Given the description of an element on the screen output the (x, y) to click on. 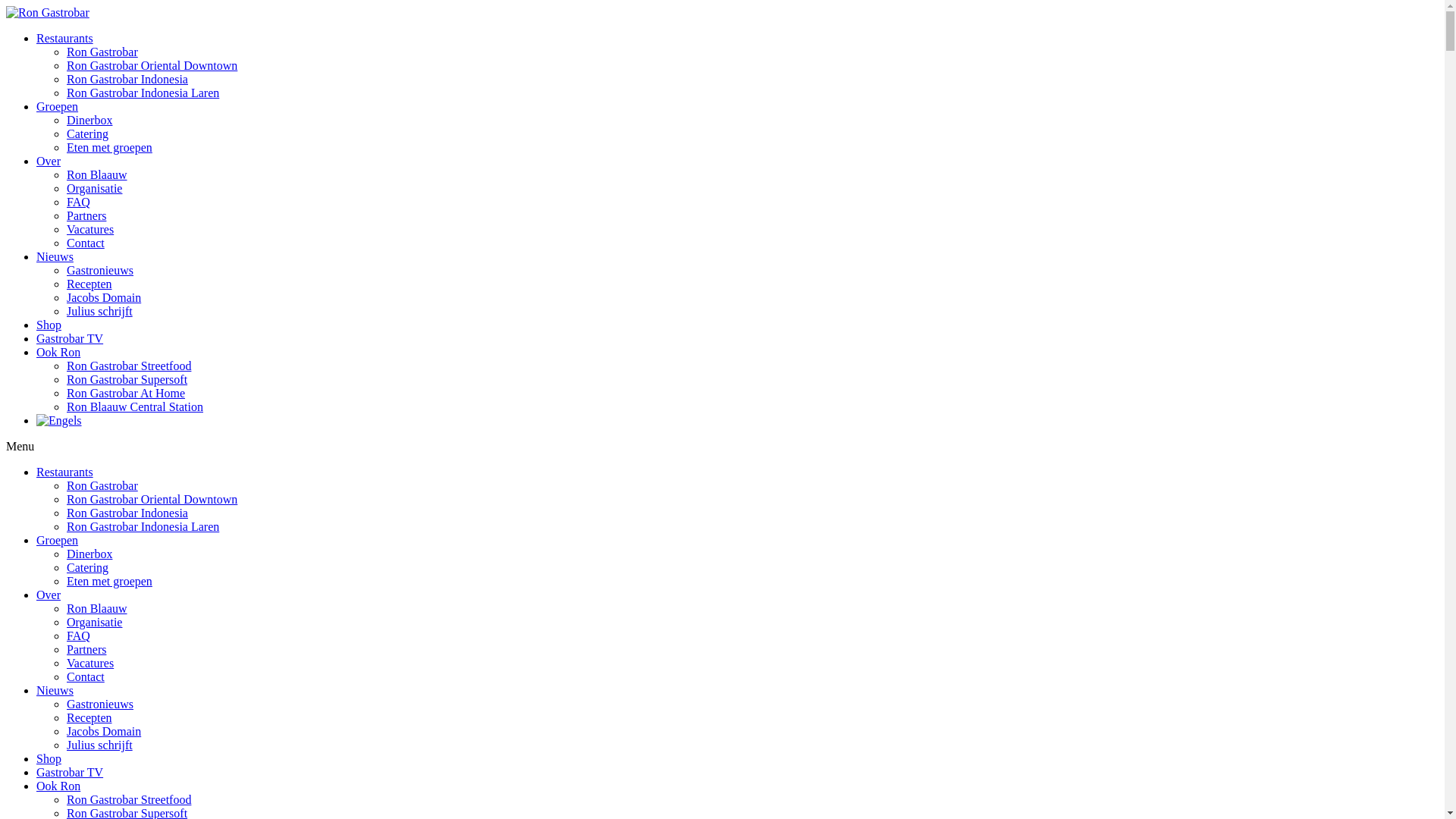
Ron Gastrobar Streetfood Element type: text (128, 365)
Over Element type: text (48, 594)
Ron Gastrobar At Home Element type: text (125, 392)
Recepten Element type: text (89, 283)
Groepen Element type: text (57, 106)
Organisatie Element type: text (94, 188)
Contact Element type: text (85, 676)
Jacobs Domain Element type: text (103, 297)
Shop Element type: text (48, 324)
Restaurants Element type: text (64, 37)
Organisatie Element type: text (94, 621)
Dinerbox Element type: text (89, 119)
Nieuws Element type: text (54, 256)
Over Element type: text (48, 160)
Ron Blaauw Central Station Element type: text (134, 406)
Gastrobar TV Element type: text (69, 338)
FAQ Element type: text (78, 201)
Ron Gastrobar Indonesia Element type: text (127, 512)
Eten met groepen Element type: text (109, 580)
Ron Gastrobar Oriental Downtown Element type: text (151, 65)
Ron Gastrobar Supersoft Element type: text (126, 379)
Partners Element type: text (86, 215)
Ron Gastrobar Indonesia Element type: text (127, 78)
Ron Gastrobar Indonesia Laren Element type: text (142, 92)
Catering Element type: text (87, 133)
Groepen Element type: text (57, 539)
Gastronieuws Element type: text (99, 703)
Ron Gastrobar Streetfood Element type: text (128, 799)
Vacatures Element type: text (89, 662)
FAQ Element type: text (78, 635)
Jacobs Domain Element type: text (103, 730)
Gastrobar TV Element type: text (69, 771)
Ron Gastrobar Indonesia Laren Element type: text (142, 526)
Eten met groepen Element type: text (109, 147)
Gastronieuws Element type: text (99, 269)
Ron Gastrobar Element type: text (102, 51)
Ook Ron Element type: text (58, 351)
Shop Element type: text (48, 758)
Logo Ron Gastrobar Element type: hover (47, 12)
Ron Gastrobar Element type: text (102, 485)
Contact Element type: text (85, 242)
Ron Gastrobar Oriental Downtown Element type: text (151, 498)
Dinerbox Element type: text (89, 553)
Partners Element type: text (86, 649)
Julius schrijft Element type: text (99, 744)
Ook Ron Element type: text (58, 785)
Catering Element type: text (87, 567)
Recepten Element type: text (89, 717)
Nieuws Element type: text (54, 690)
Julius schrijft Element type: text (99, 310)
Ron Blaauw Element type: text (96, 174)
Ron Blaauw Element type: text (96, 608)
Vacatures Element type: text (89, 228)
Restaurants Element type: text (64, 471)
